Given the description of an element on the screen output the (x, y) to click on. 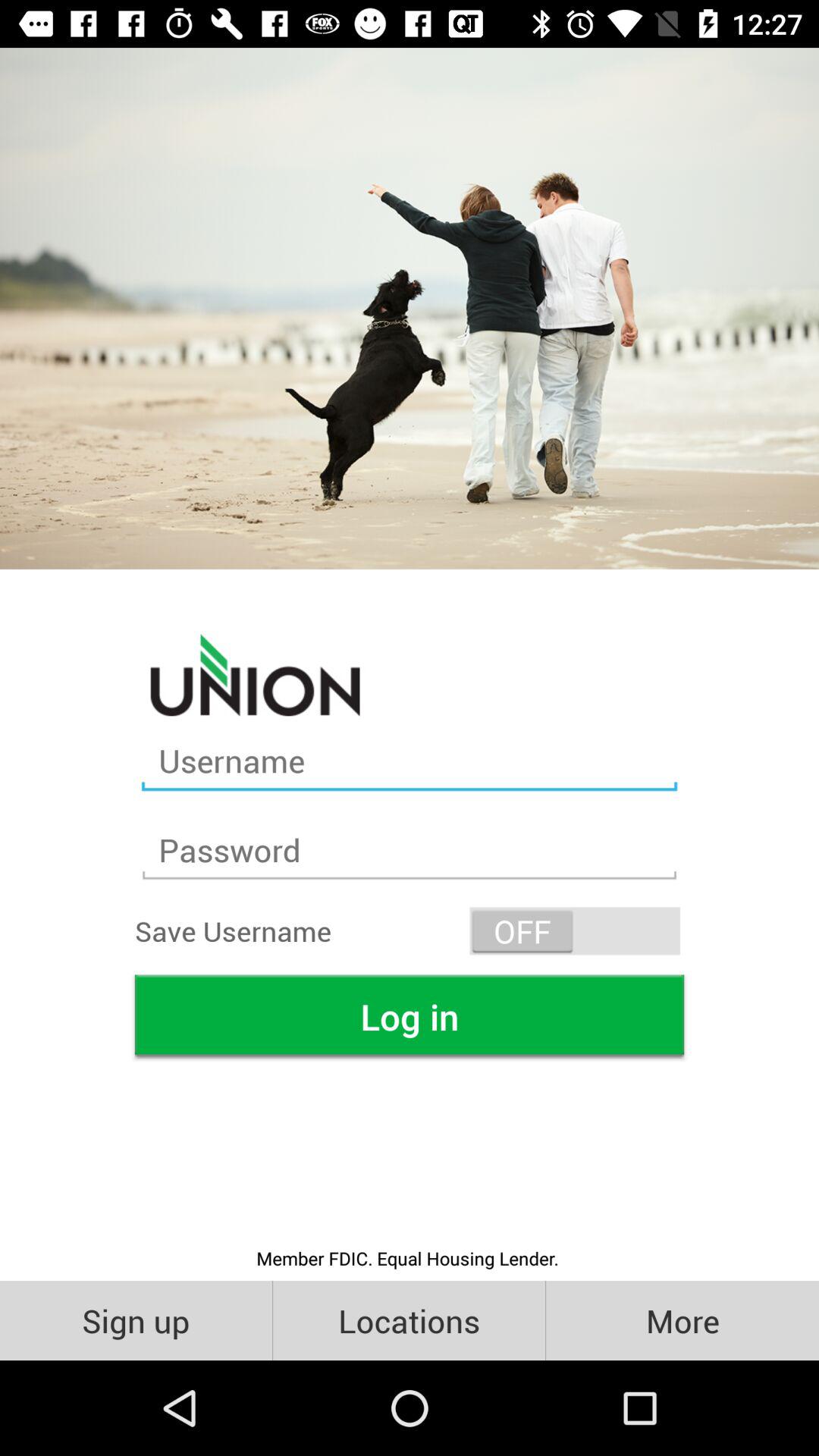
turn off the item at the bottom right corner (682, 1320)
